Given the description of an element on the screen output the (x, y) to click on. 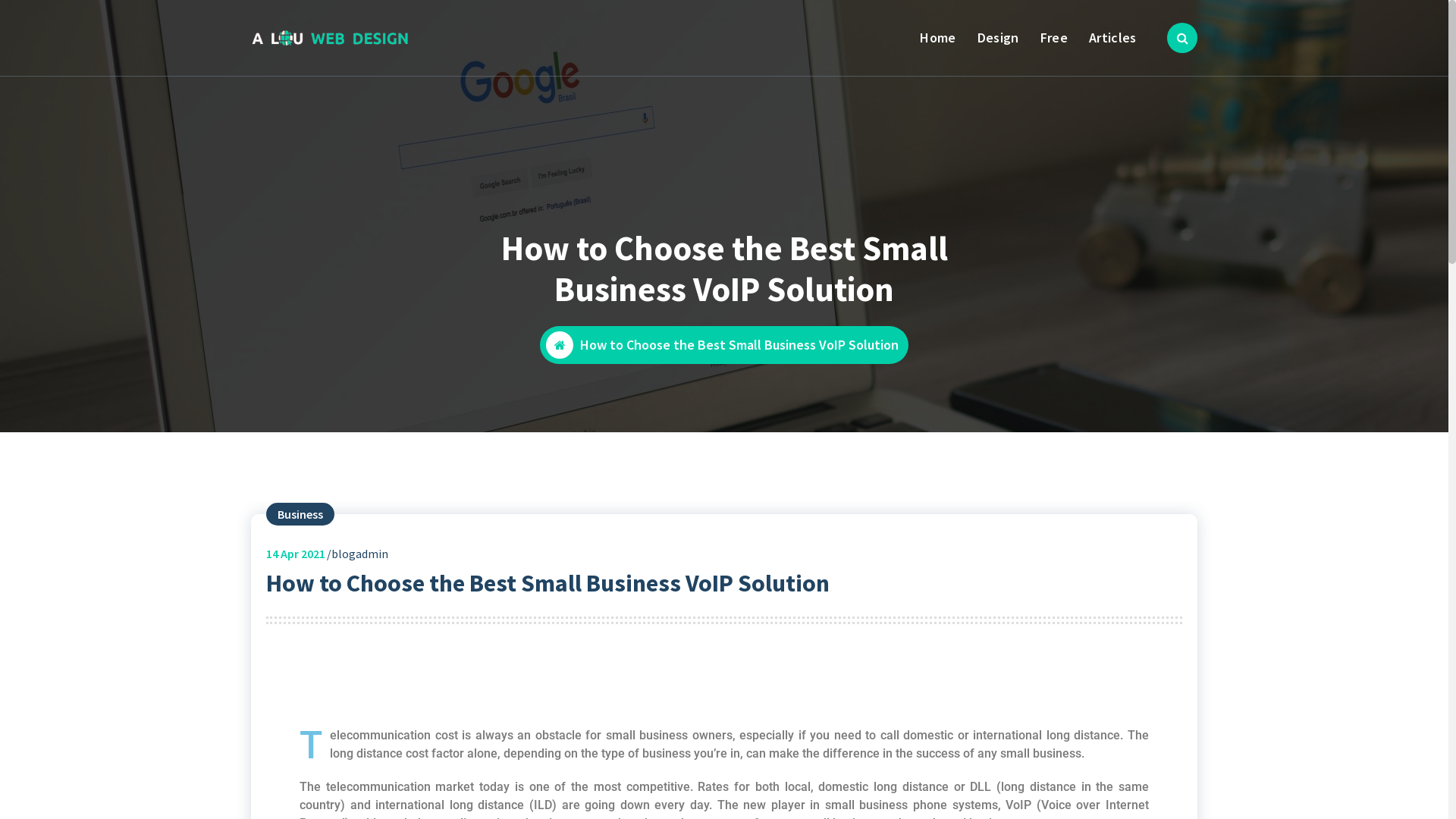
Home Element type: text (938, 37)
14 Apr 2021 Element type: text (295, 553)
Business Element type: text (300, 513)
Design Element type: text (997, 37)
Free Element type: text (1053, 37)
Articles Element type: text (1112, 37)
blogadmin Element type: text (359, 553)
